Given the description of an element on the screen output the (x, y) to click on. 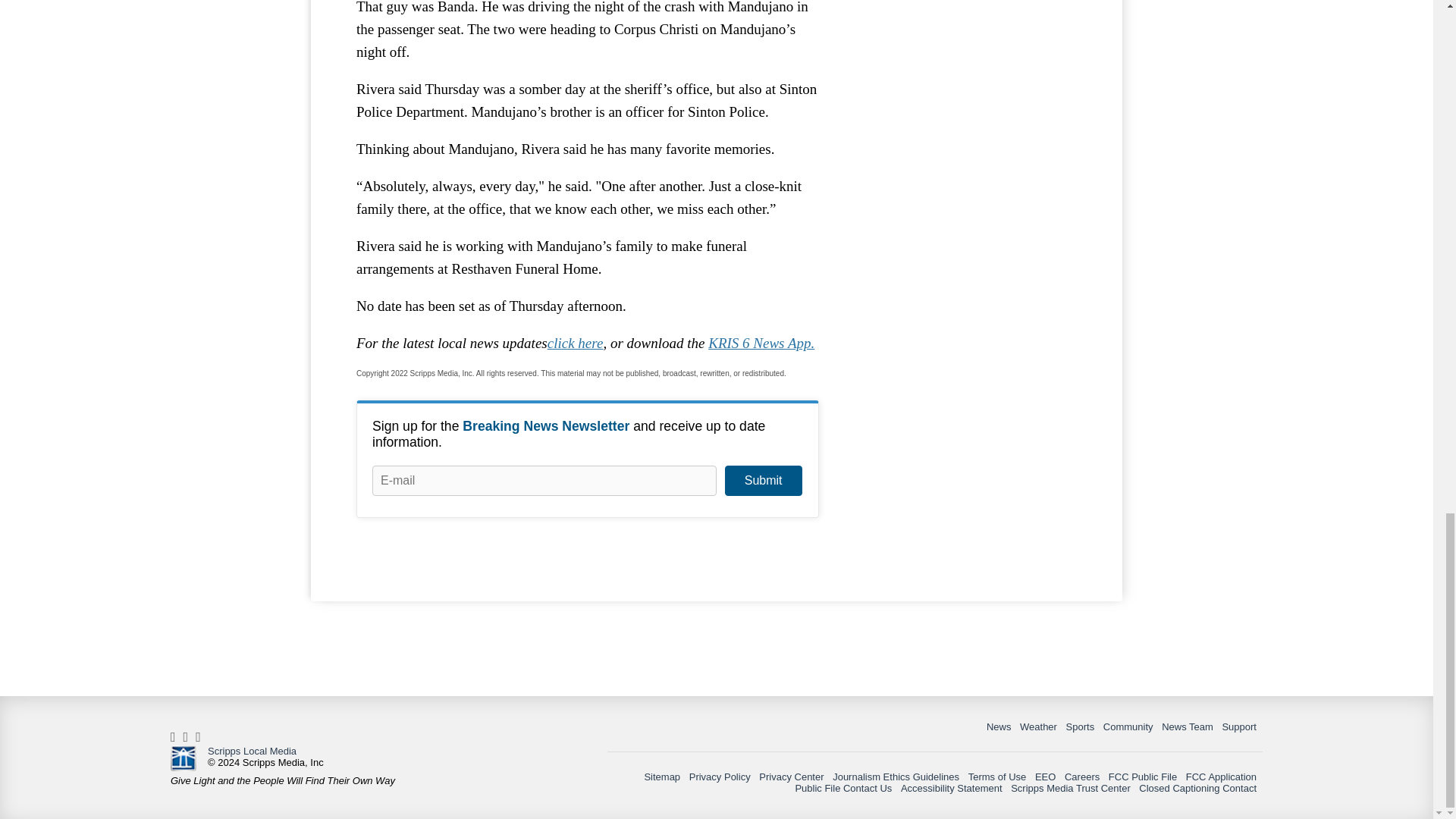
Submit (763, 481)
